Given the description of an element on the screen output the (x, y) to click on. 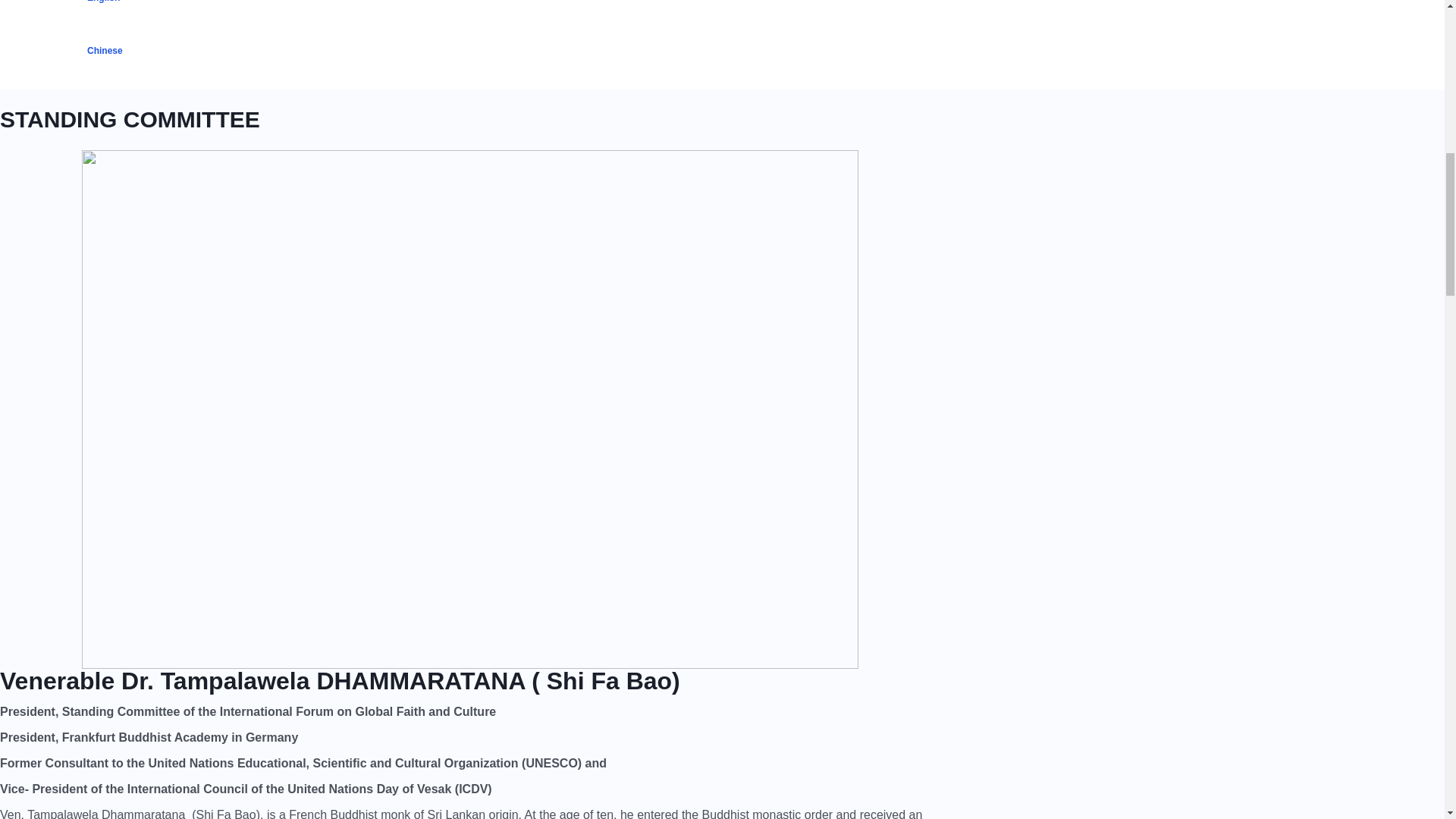
English (377, 12)
Chinese (377, 50)
